Given the description of an element on the screen output the (x, y) to click on. 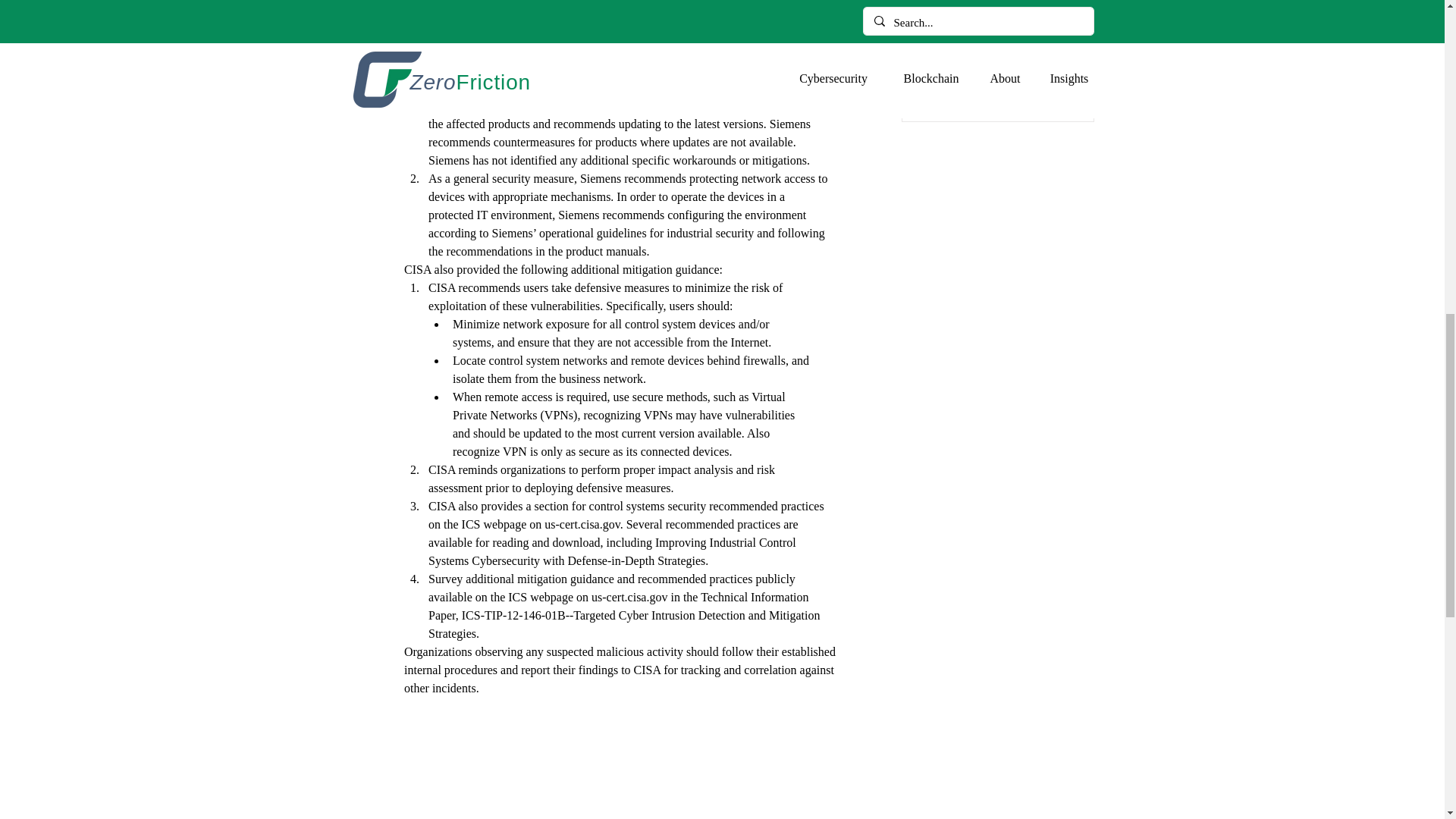
ICSA-21-313-03 (614, 32)
